Given the description of an element on the screen output the (x, y) to click on. 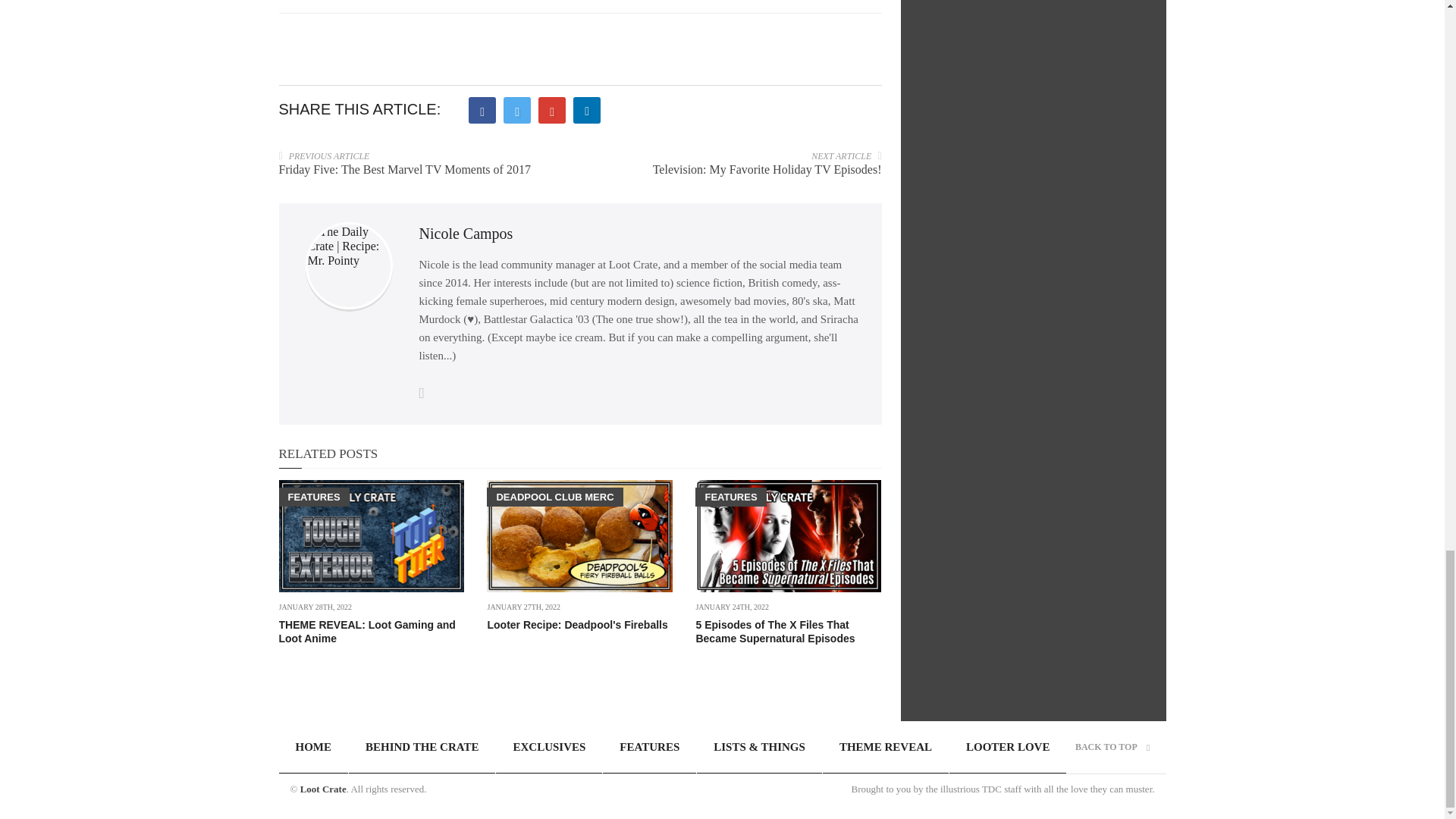
FEATURES (314, 496)
Friday Five: The Best Marvel TV Moments of 2017 (405, 169)
Television: My Favorite Holiday TV Episodes! (767, 169)
DEADPOOL CLUB MERC (554, 496)
Nicole Campos (465, 233)
Looter Recipe: Deadpool's Fireballs (576, 624)
THEME REVEAL: Loot Gaming and Loot Anime (367, 631)
Friday Five: The Best Marvel TV Moments of 2017 (405, 169)
Posts by Nicole Campos (465, 233)
Television:  My Favorite Holiday TV Episodes! (767, 169)
BACK TO TOP (1112, 747)
